Given the description of an element on the screen output the (x, y) to click on. 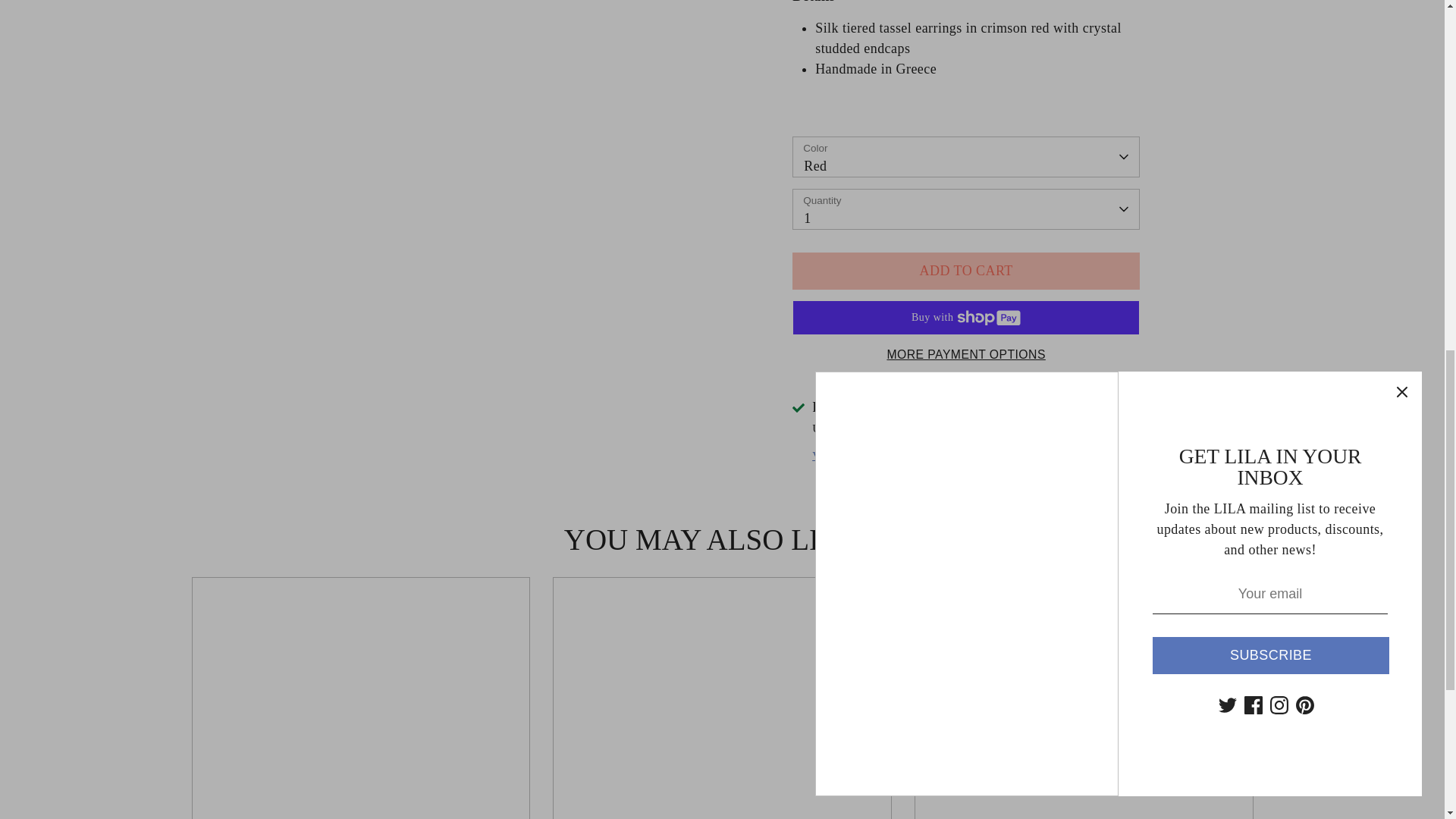
1 (965, 209)
Red (965, 156)
